Given the description of an element on the screen output the (x, y) to click on. 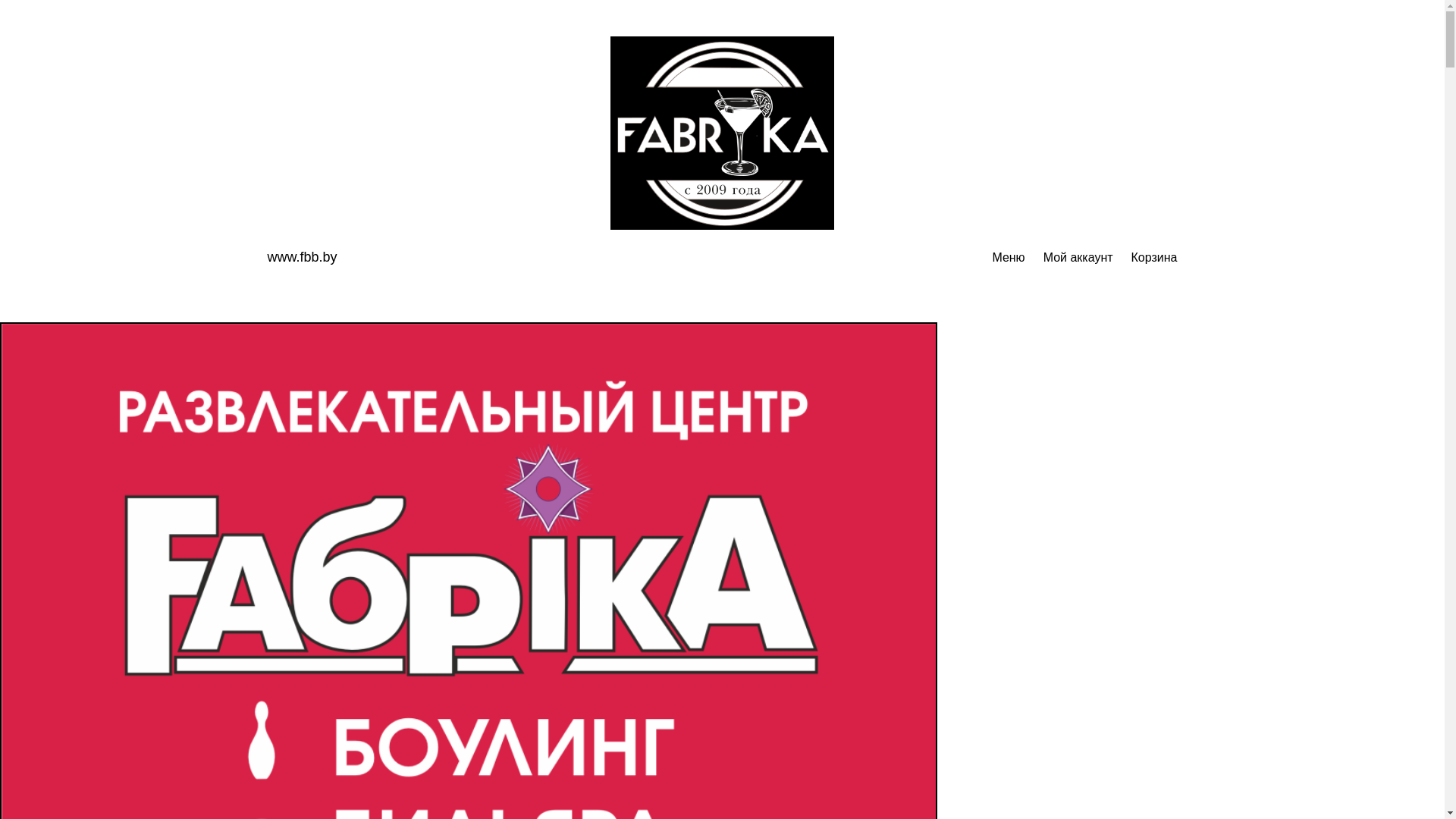
www.fbb.by Element type: text (301, 256)
